Given the description of an element on the screen output the (x, y) to click on. 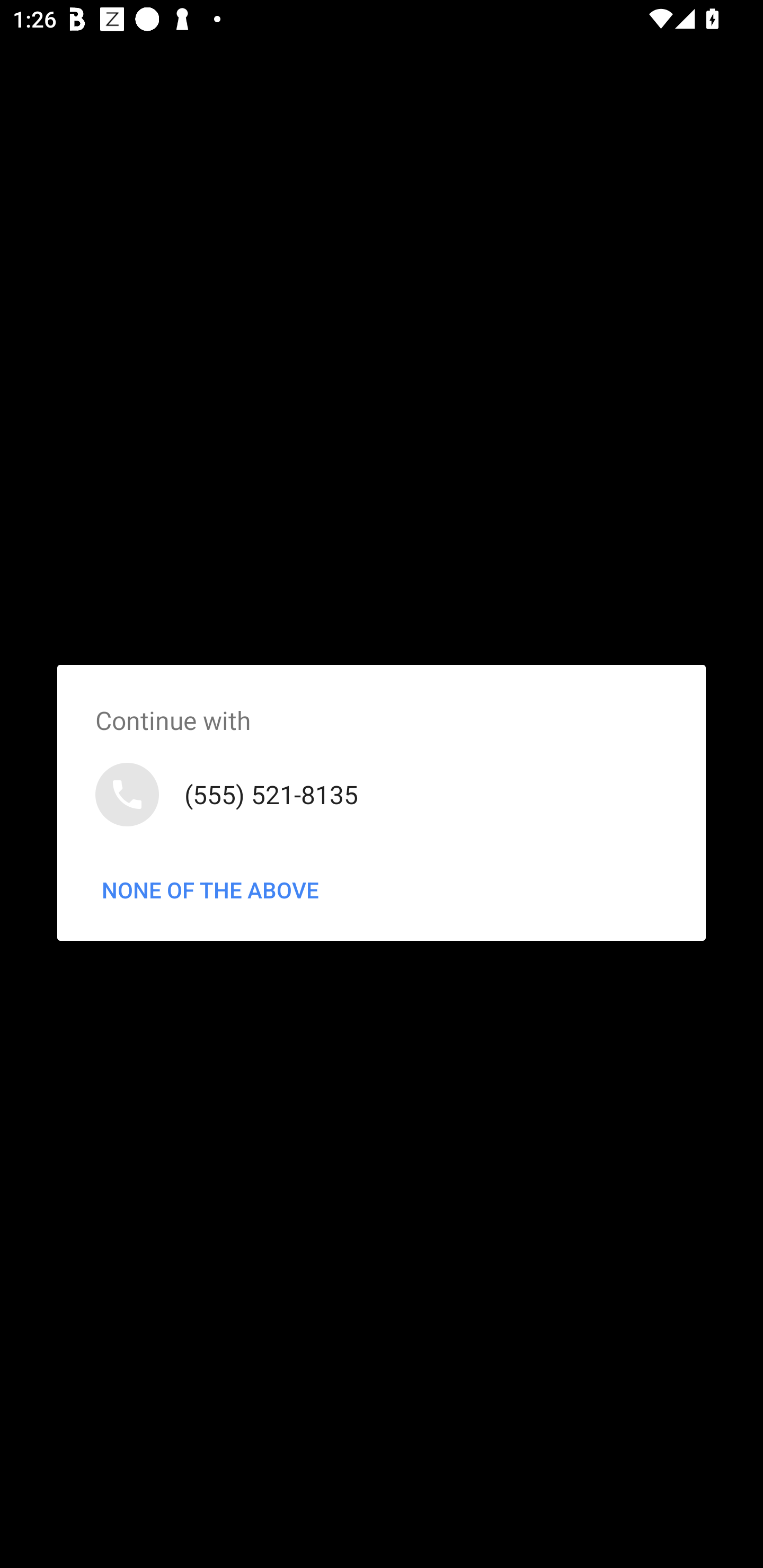
(555) 521-8135 (381, 793)
NONE OF THE ABOVE (210, 889)
